Given the description of an element on the screen output the (x, y) to click on. 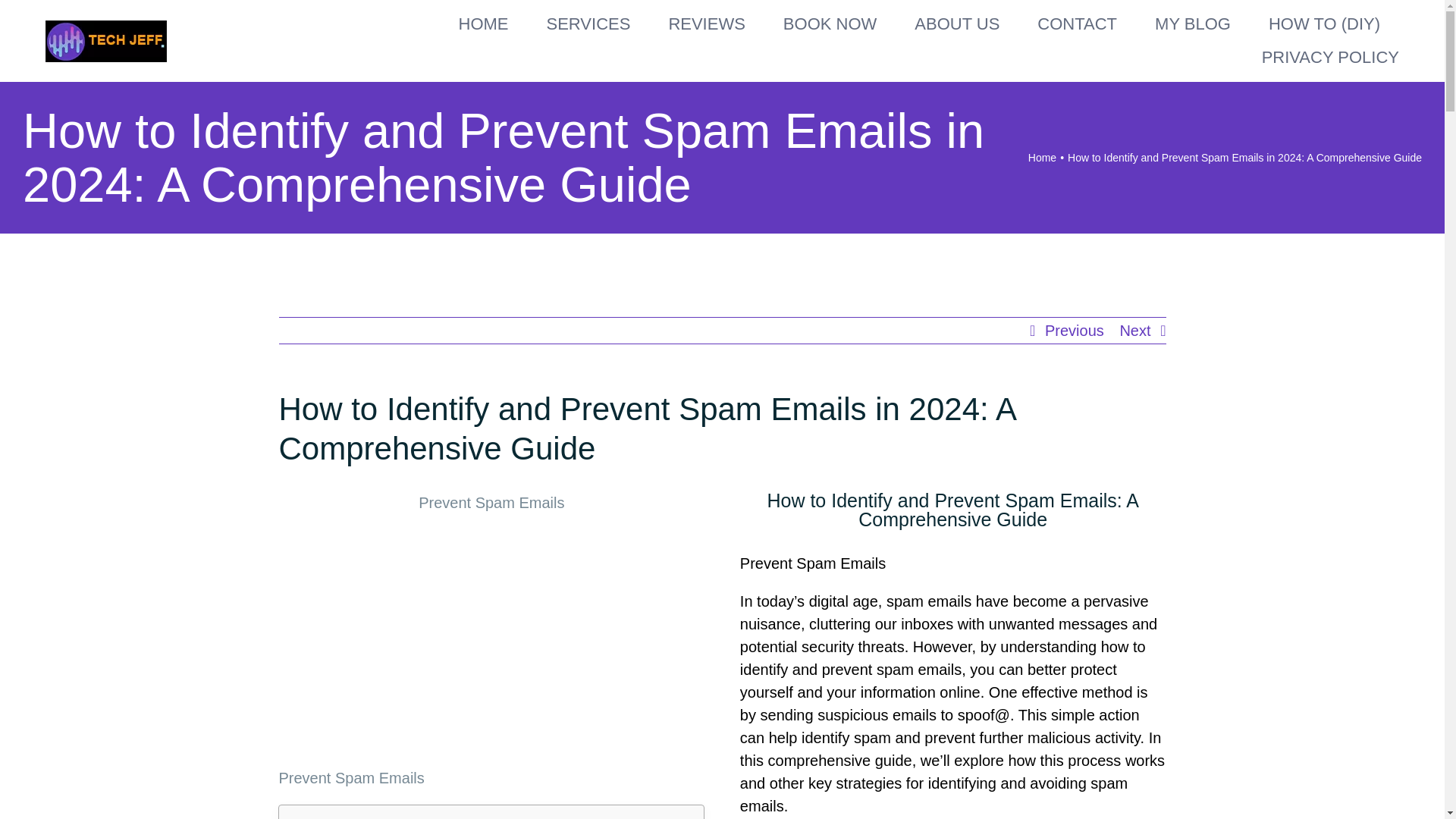
PRIVACY POLICY (1330, 57)
MY BLOG (1192, 23)
Next (1134, 330)
HOME (483, 23)
Previous (1074, 330)
SERVICES (588, 23)
BOOK NOW (829, 23)
Home (1042, 157)
ABOUT US (956, 23)
CONTACT (1076, 23)
REVIEWS (706, 23)
